Given the description of an element on the screen output the (x, y) to click on. 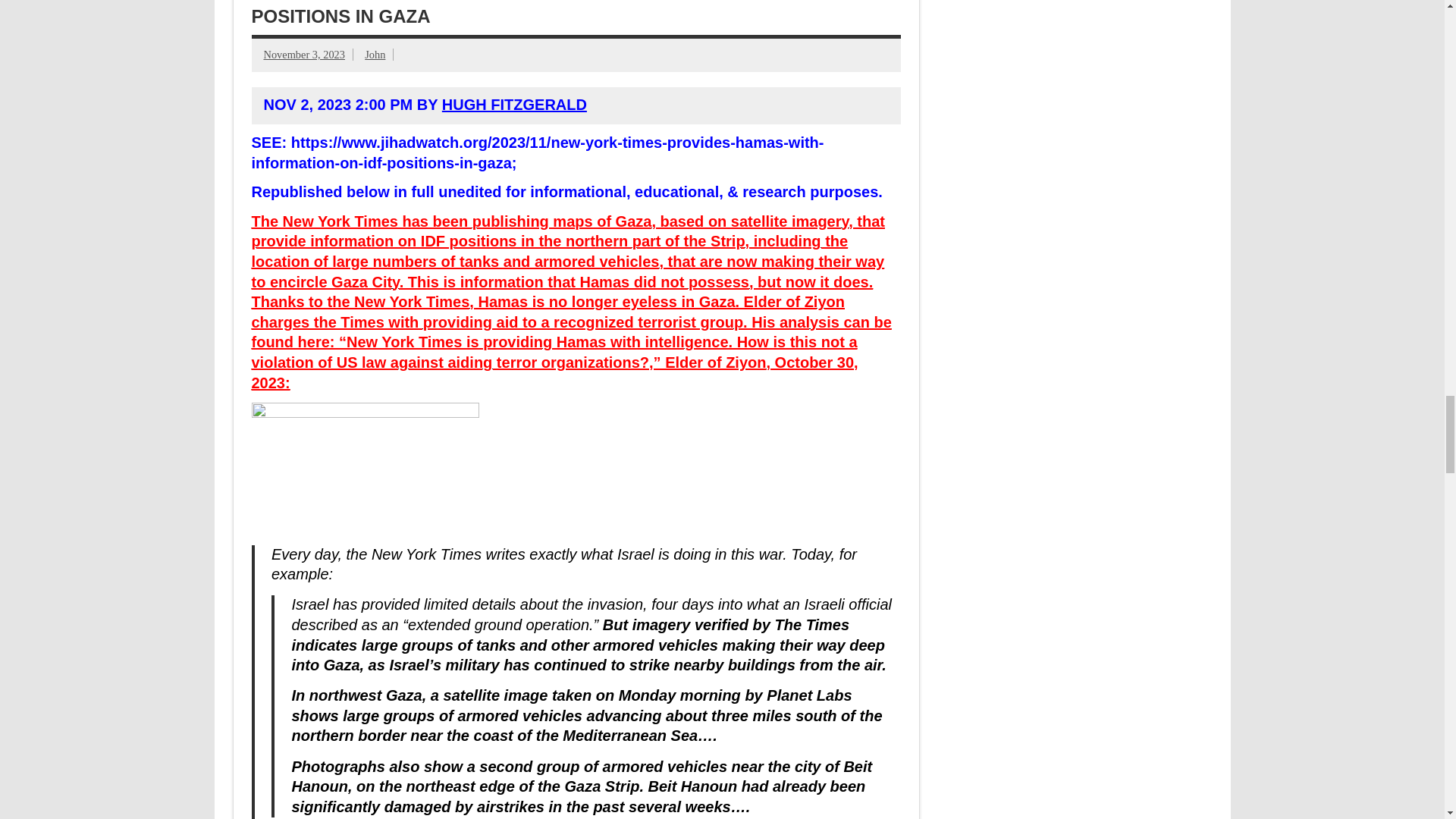
1:54 PM (304, 54)
View all posts by John (375, 54)
